Given the description of an element on the screen output the (x, y) to click on. 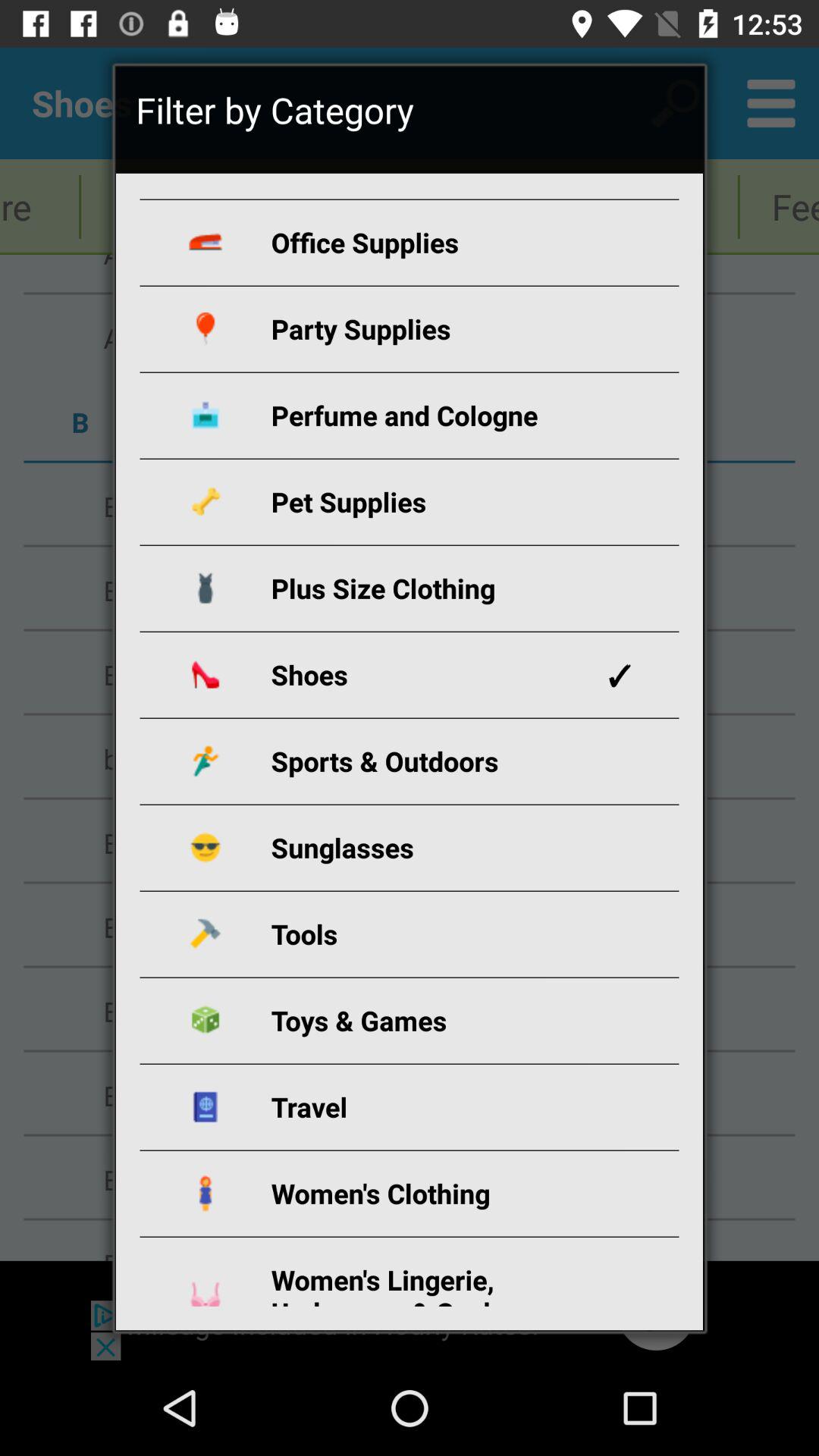
press app above sports & outdoors app (427, 674)
